Given the description of an element on the screen output the (x, y) to click on. 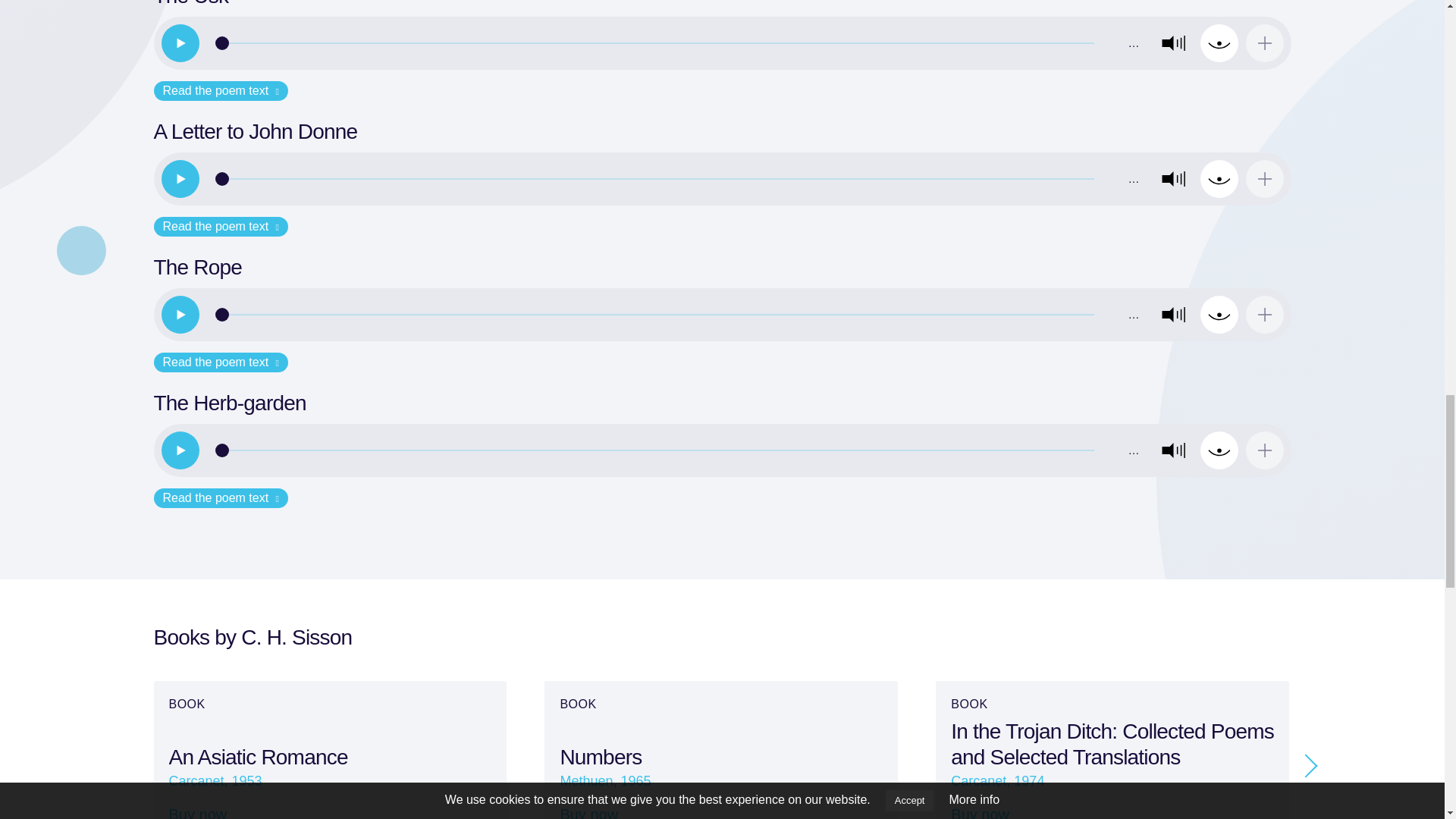
Become a member to add to a collection (1263, 43)
Distraction free (1218, 314)
Distraction free (1218, 178)
Become a member to add to a collection (1263, 178)
Volume Mute (1173, 314)
Volume Mute (1173, 43)
Play (179, 178)
Volume Mute (1173, 178)
Distraction free (1218, 43)
Play (179, 43)
